Given the description of an element on the screen output the (x, y) to click on. 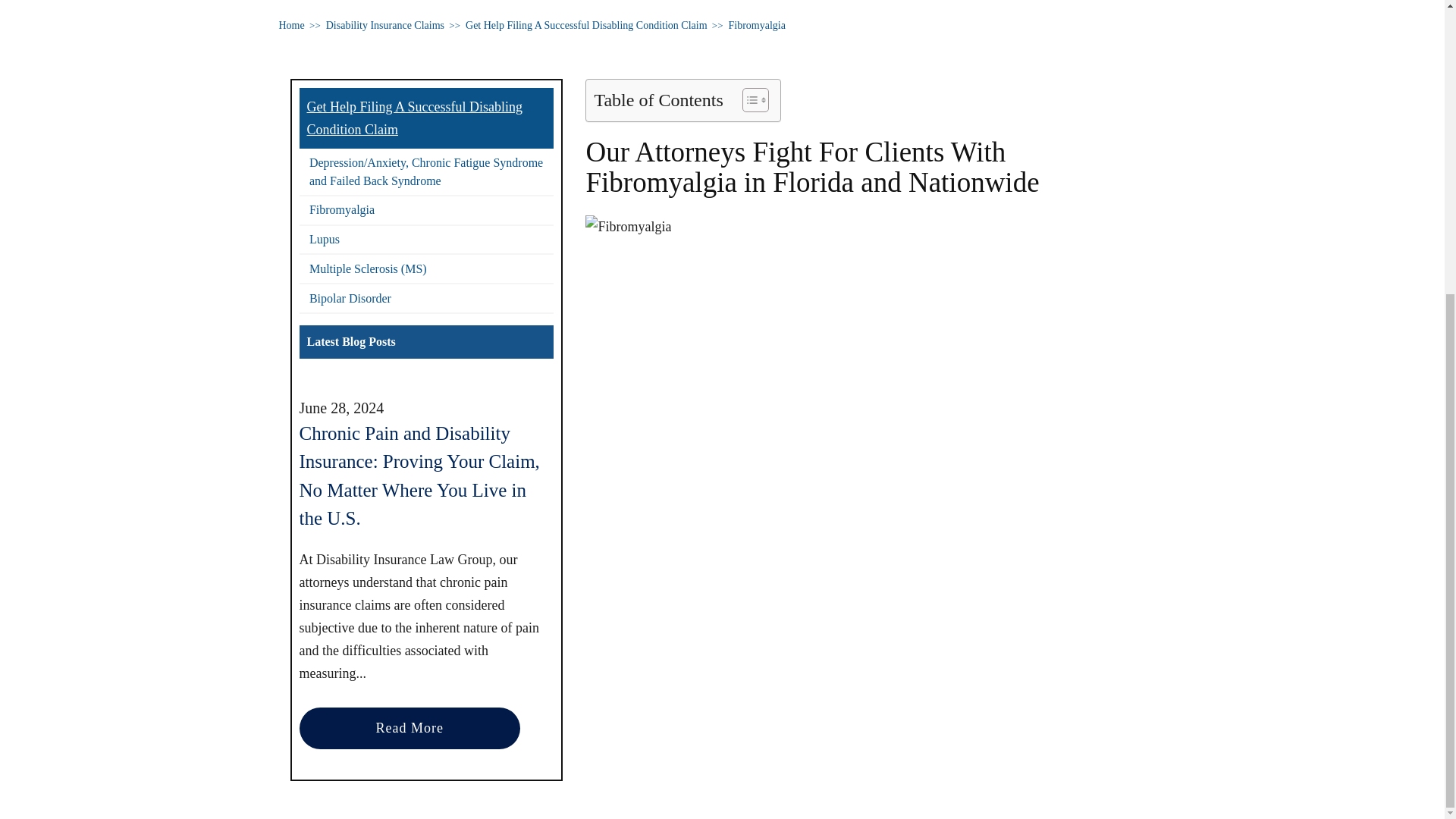
Fibromyalgia (757, 25)
Home (291, 25)
Get Help Filing A Successful Disabling Condition Claim (586, 25)
Disability Insurance Claims (385, 25)
